Given the description of an element on the screen output the (x, y) to click on. 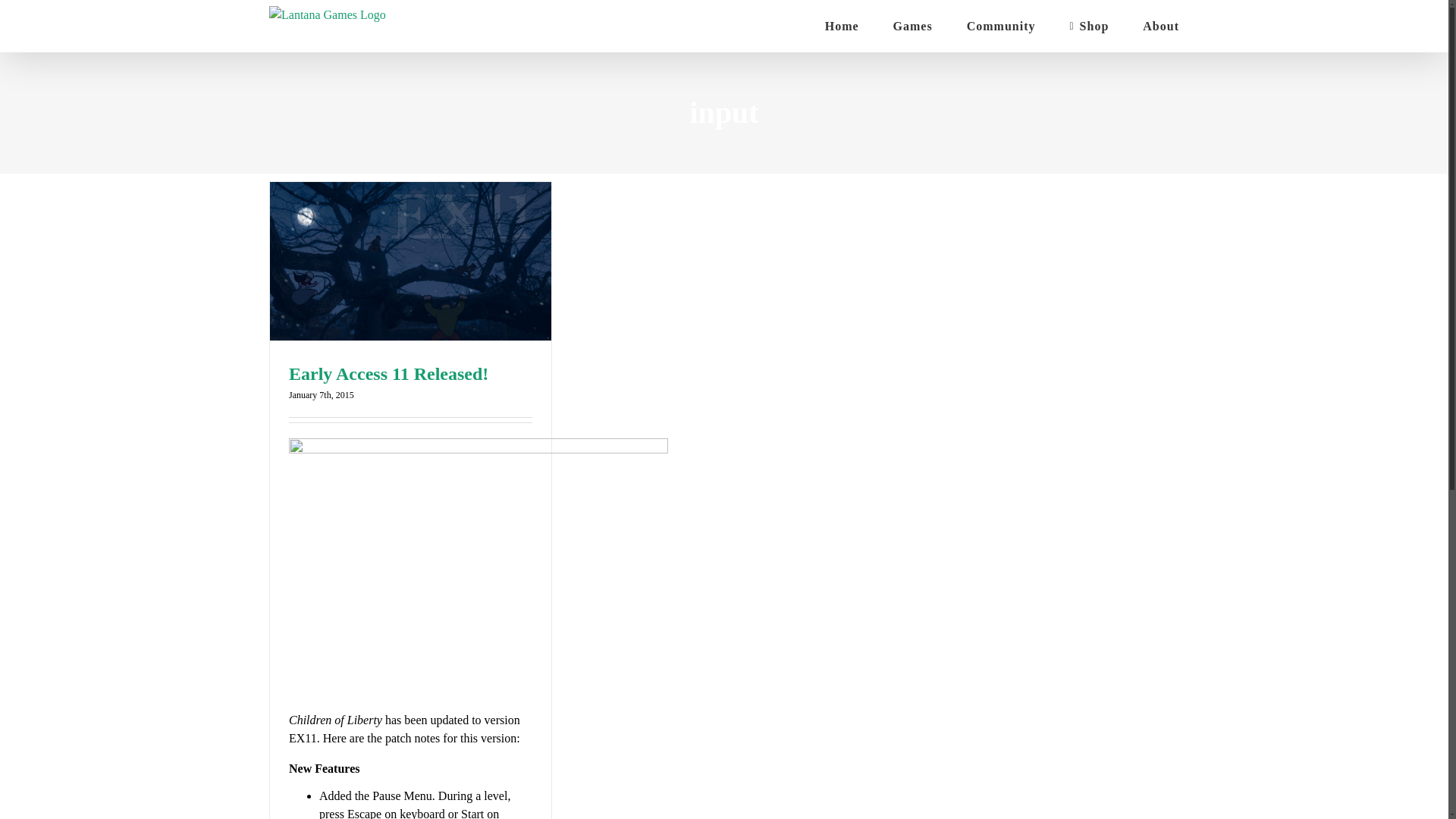
Home (842, 26)
Games (913, 26)
Early Access 11 Released! (387, 373)
Shop (1088, 26)
About (1160, 26)
Community (1000, 26)
